Given the description of an element on the screen output the (x, y) to click on. 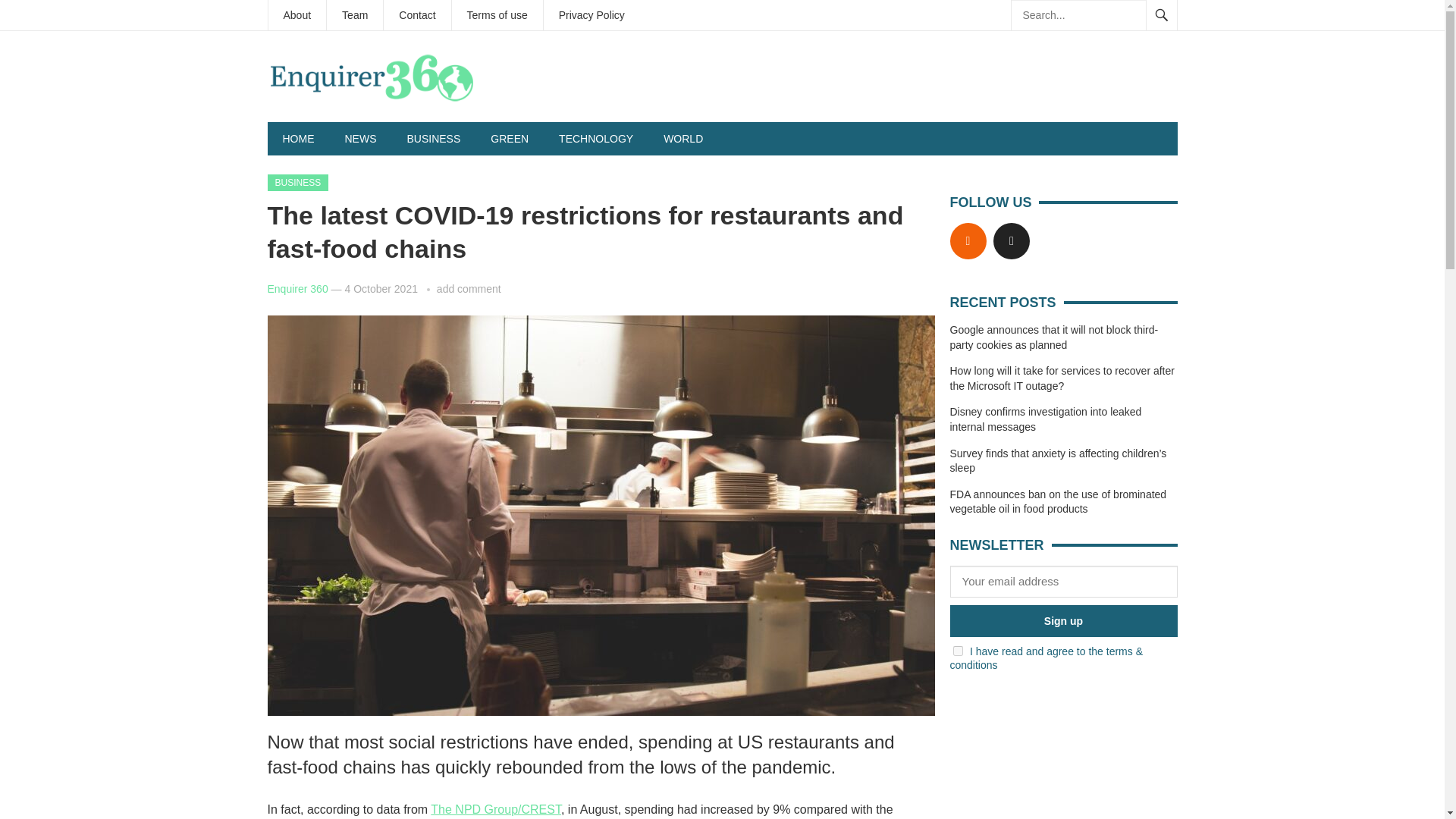
Team (354, 15)
Privacy Policy (591, 15)
HOME (297, 138)
Enquirer 360 (296, 288)
NEWS (360, 138)
Posts by Enquirer 360 (296, 288)
RSS (967, 240)
GREEN (509, 138)
About (296, 15)
1 (957, 651)
BUSINESS (297, 182)
BUSINESS (433, 138)
Sign up (1062, 621)
TECHNOLOGY (595, 138)
add comment (468, 288)
